Given the description of an element on the screen output the (x, y) to click on. 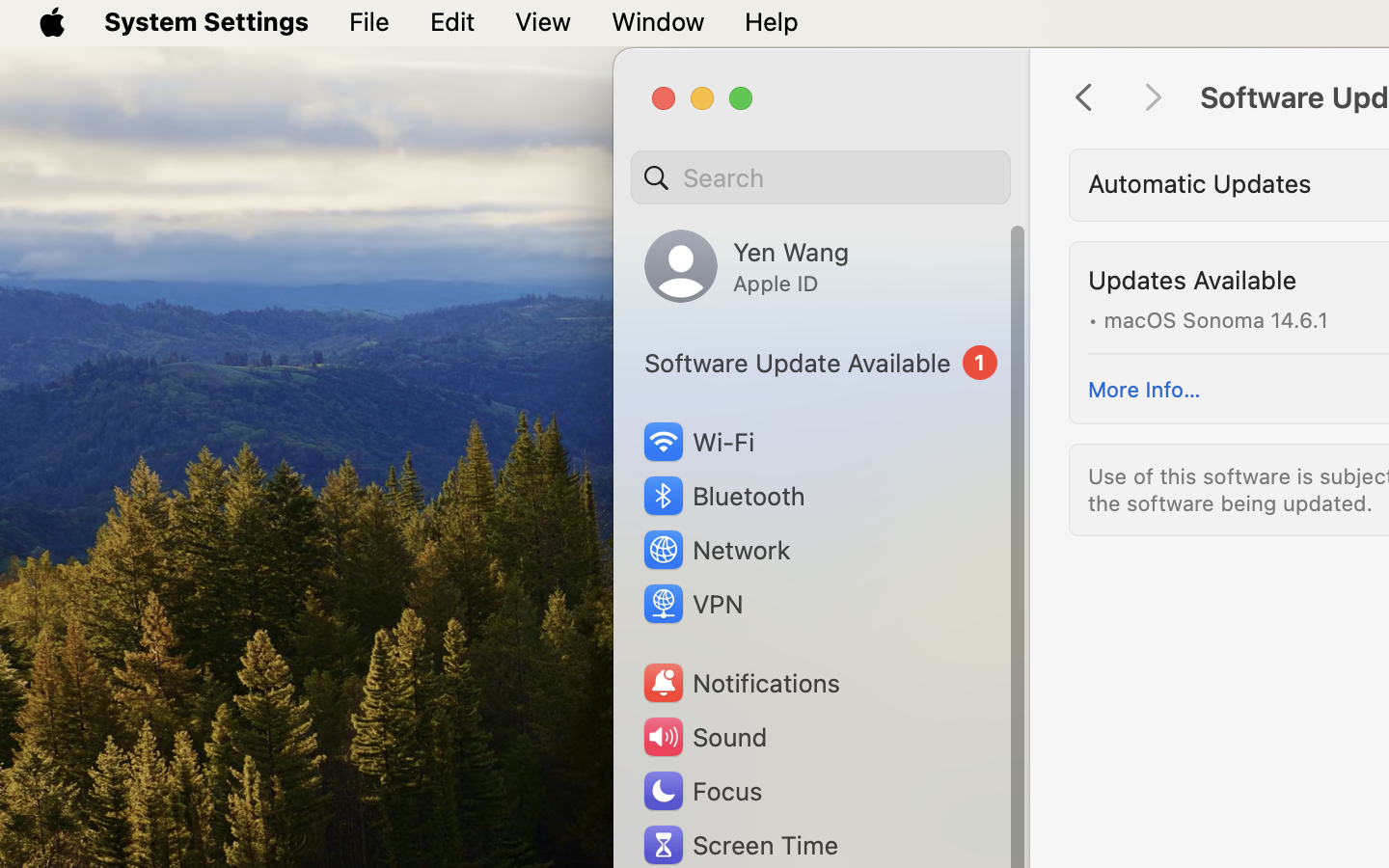
Yen Wang, Apple ID Element type: AXStaticText (746, 265)
Network Element type: AXStaticText (715, 549)
Bluetooth Element type: AXStaticText (723, 495)
Screen Time Element type: AXStaticText (739, 844)
Automatic Updates Element type: AXStaticText (1199, 182)
